Given the description of an element on the screen output the (x, y) to click on. 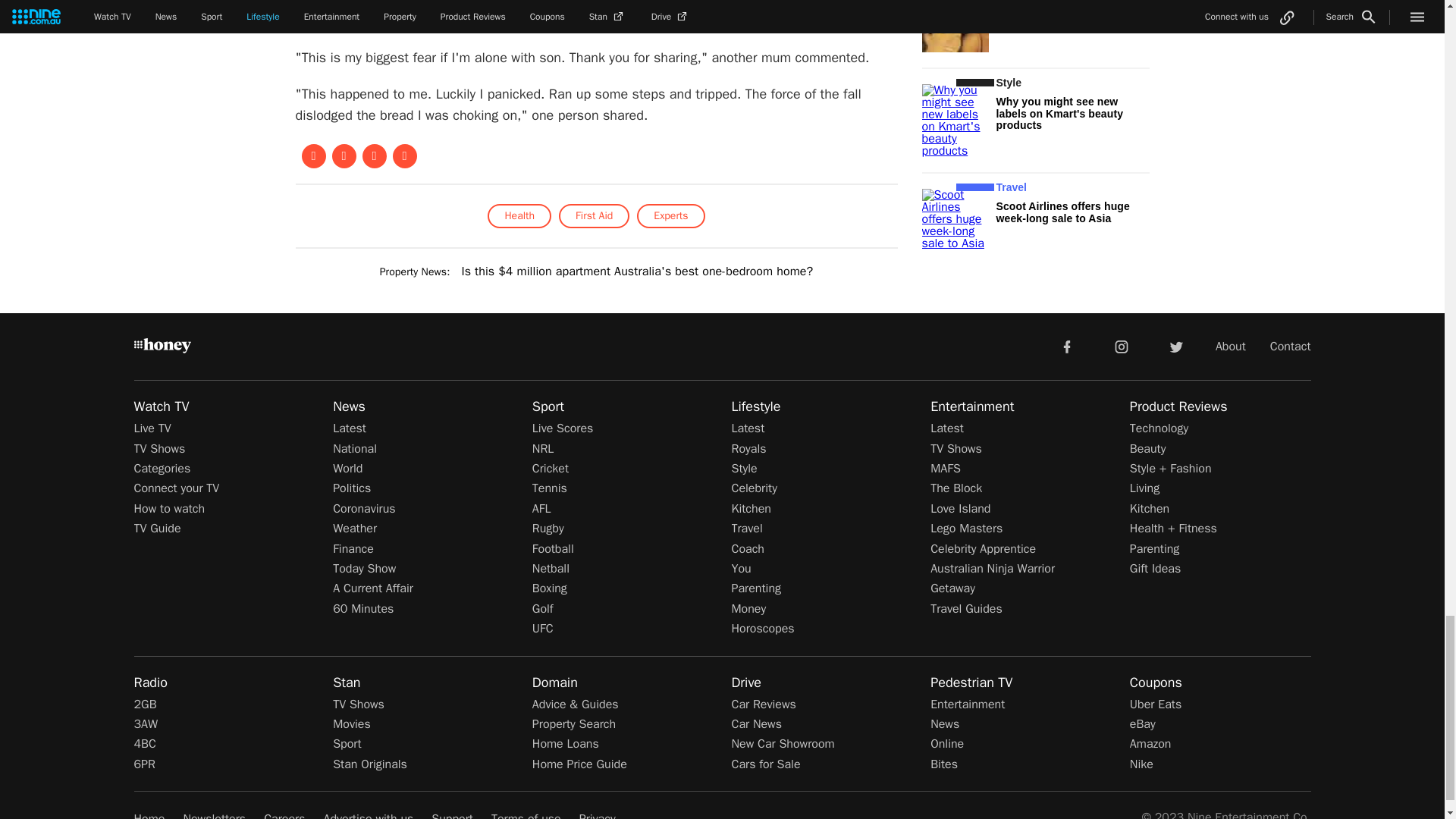
First Aid (593, 215)
Health (519, 215)
instagram (1121, 345)
Experts (670, 215)
twitter (1175, 345)
facebook (1066, 345)
